Given the description of an element on the screen output the (x, y) to click on. 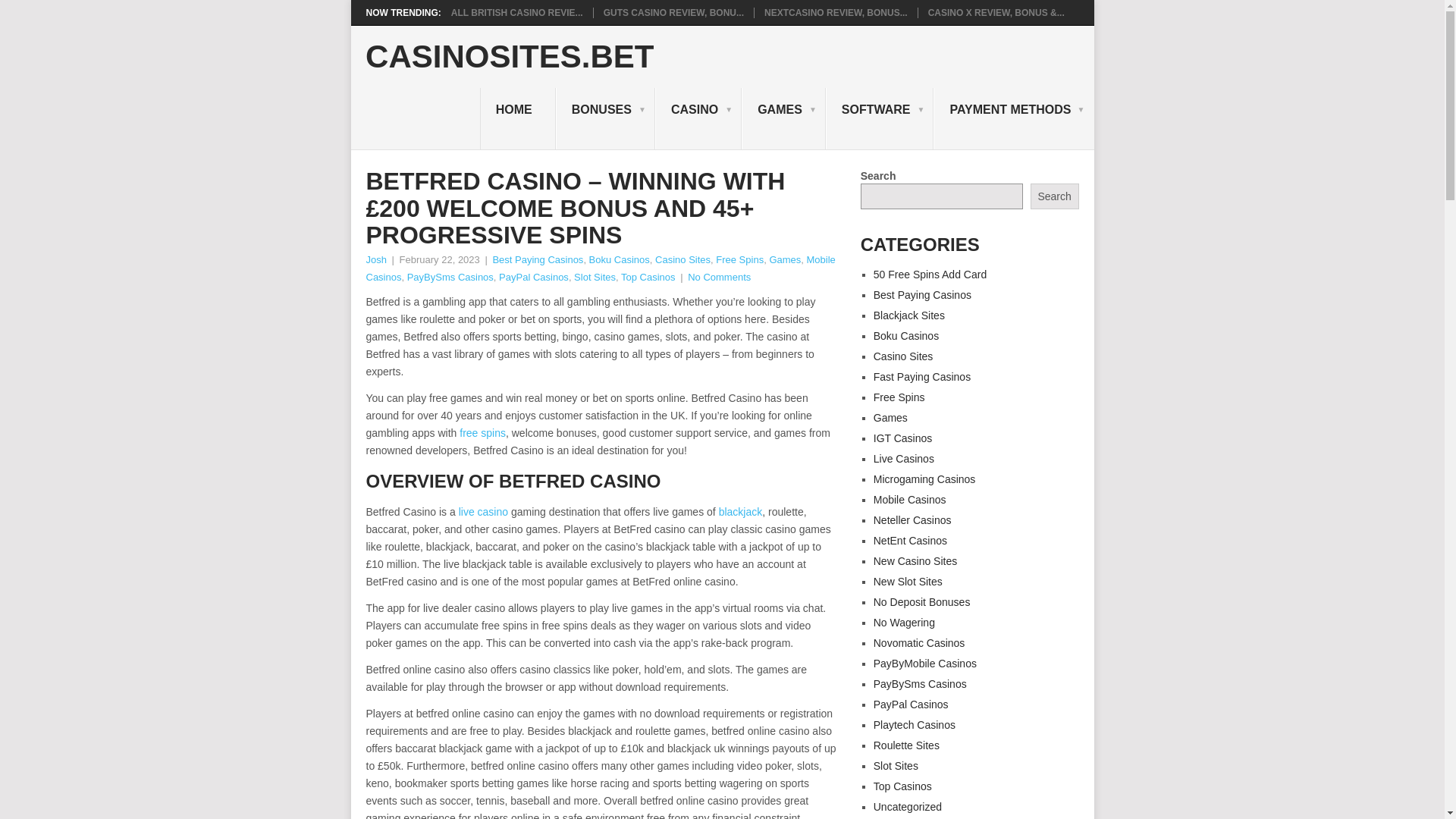
ALL BRITISH CASINO REVIE... (517, 12)
HOME (518, 118)
CASINO (698, 118)
Posts by Josh (375, 259)
NEXTCASINO REVIEW, BONUS... (835, 12)
GAMES (783, 118)
SOFTWARE (879, 118)
CASINOSITES.BET (509, 56)
GUTS CASINO REVIEW, BONU... (674, 12)
BONUSES (605, 118)
